Given the description of an element on the screen output the (x, y) to click on. 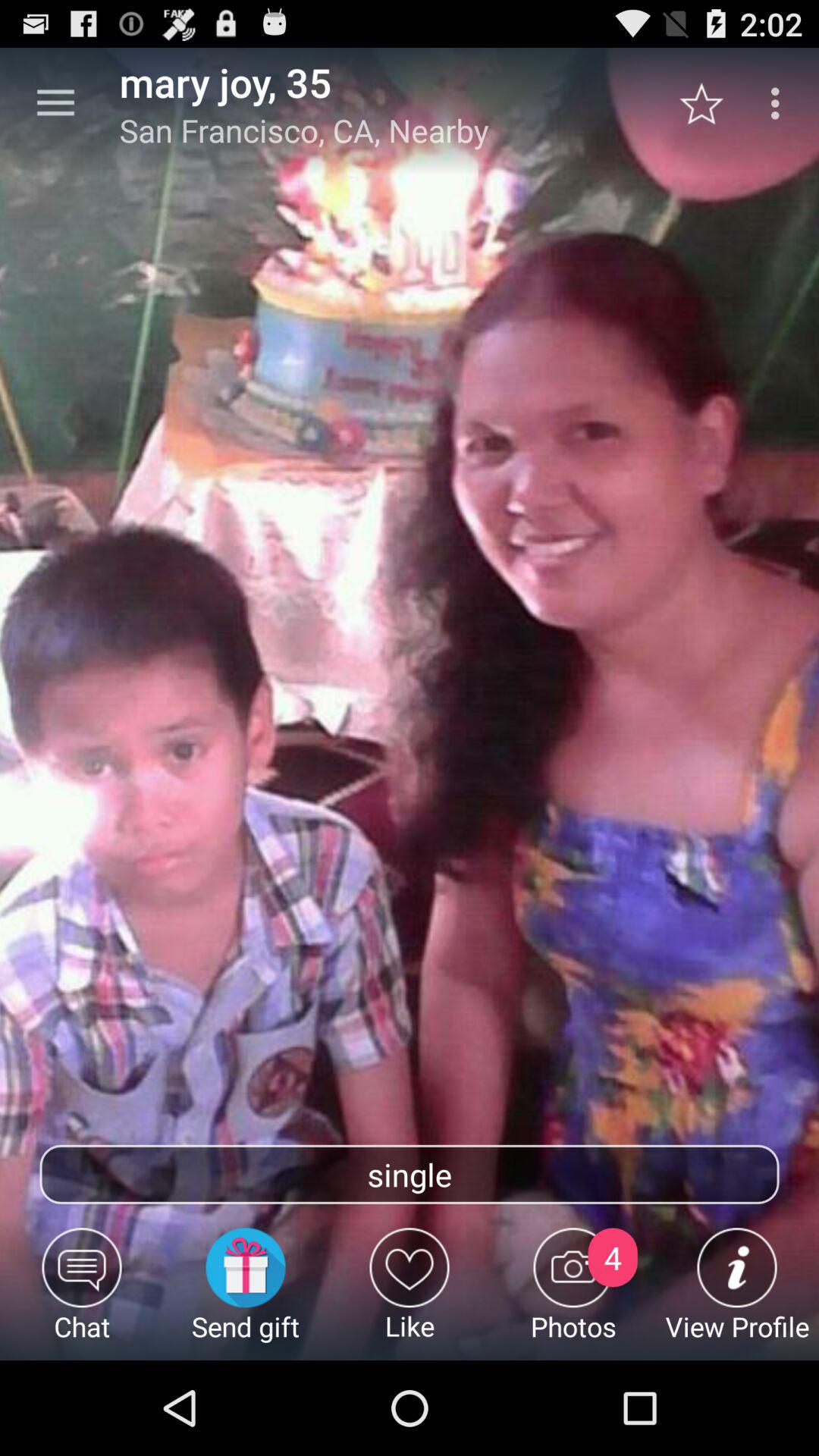
choose item to the right of send gift icon (409, 1293)
